Given the description of an element on the screen output the (x, y) to click on. 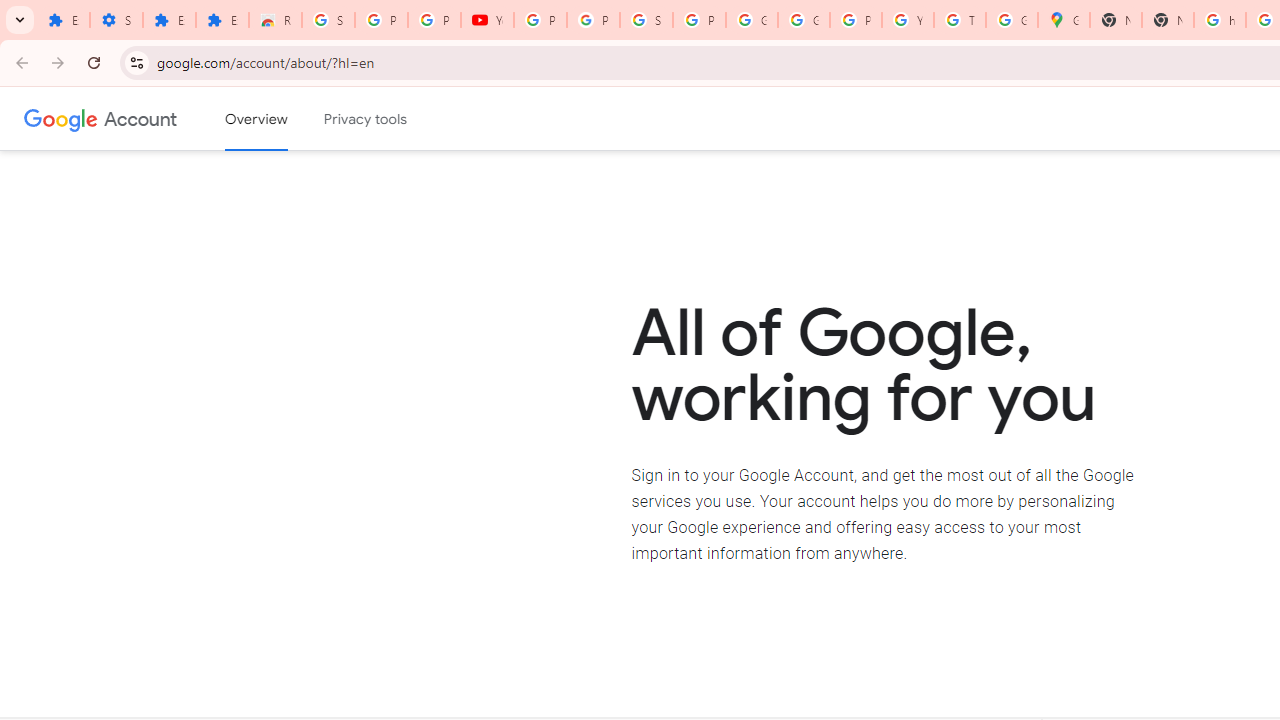
Sign in - Google Accounts (328, 20)
Google Account (751, 20)
Extensions (63, 20)
YouTube (907, 20)
Reviews: Helix Fruit Jump Arcade Game (275, 20)
Settings (116, 20)
Privacy tools (365, 119)
Google logo (61, 118)
